Given the description of an element on the screen output the (x, y) to click on. 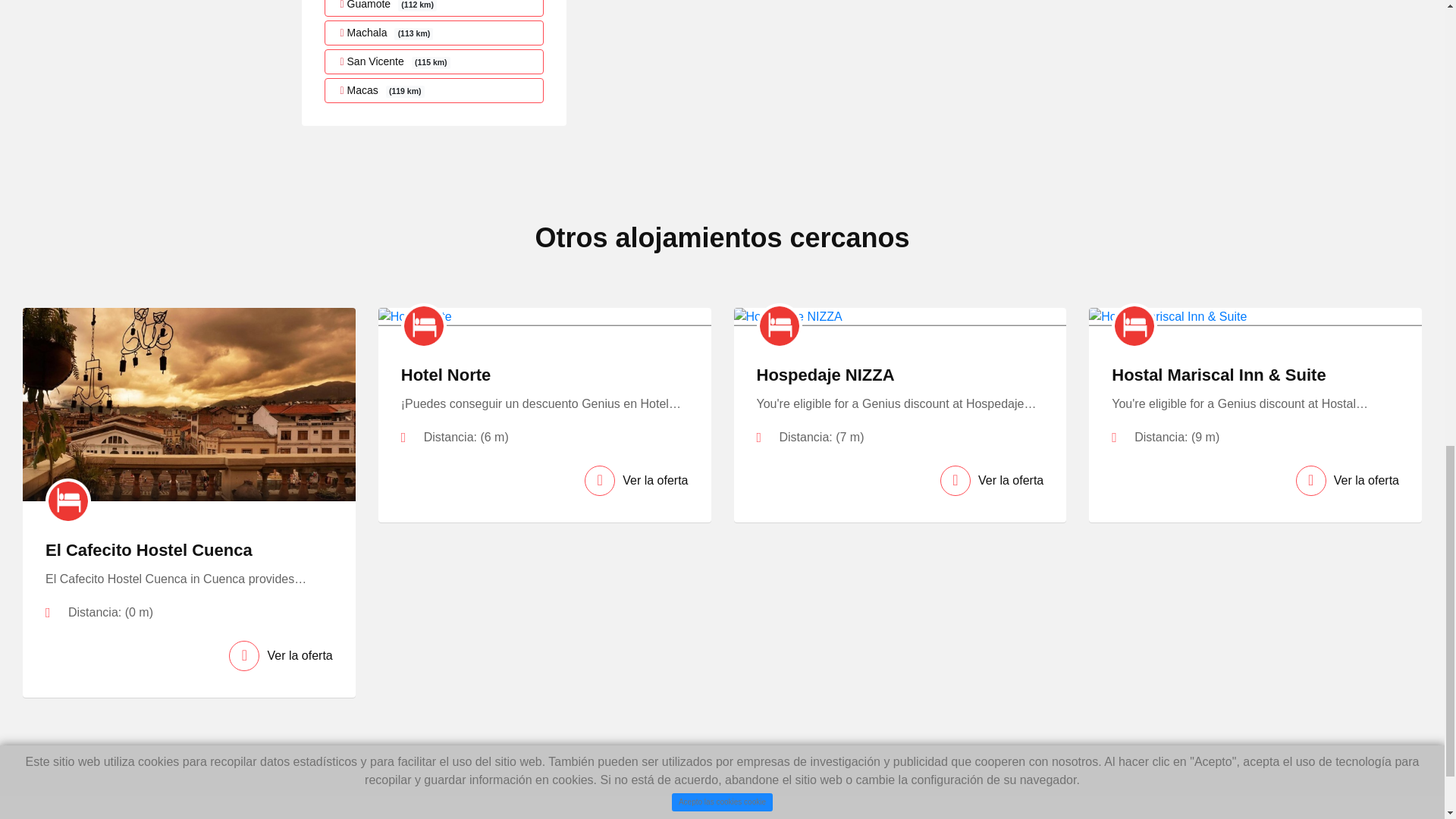
Alojamiento Machala (434, 32)
Hotel Norte (446, 374)
Alojamiento Macas (434, 90)
Ver la oferta (279, 655)
Ver la oferta (636, 481)
El Cafecito Hostel Cuenca (148, 549)
Alojamiento Guamote (434, 8)
Alojamiento San Vicente (434, 61)
